Given the description of an element on the screen output the (x, y) to click on. 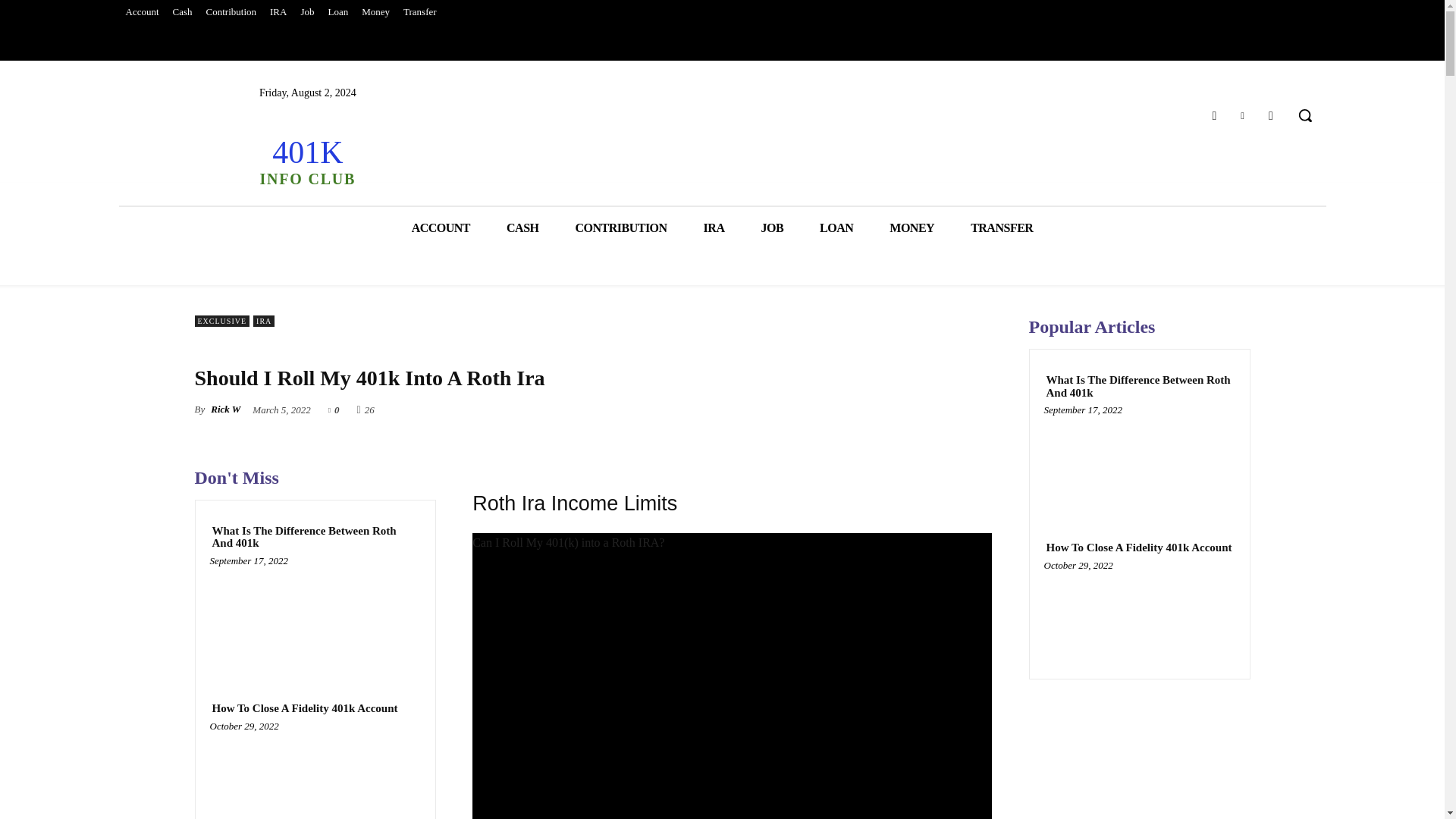
JOB (772, 227)
Loan (337, 12)
Transfer (420, 12)
CASH (521, 227)
Cash (182, 12)
ACCOUNT (440, 227)
CONTRIBUTION (620, 227)
IRA (278, 12)
IRA (713, 227)
How To Close A Fidelity 401k Account (314, 774)
